Given the description of an element on the screen output the (x, y) to click on. 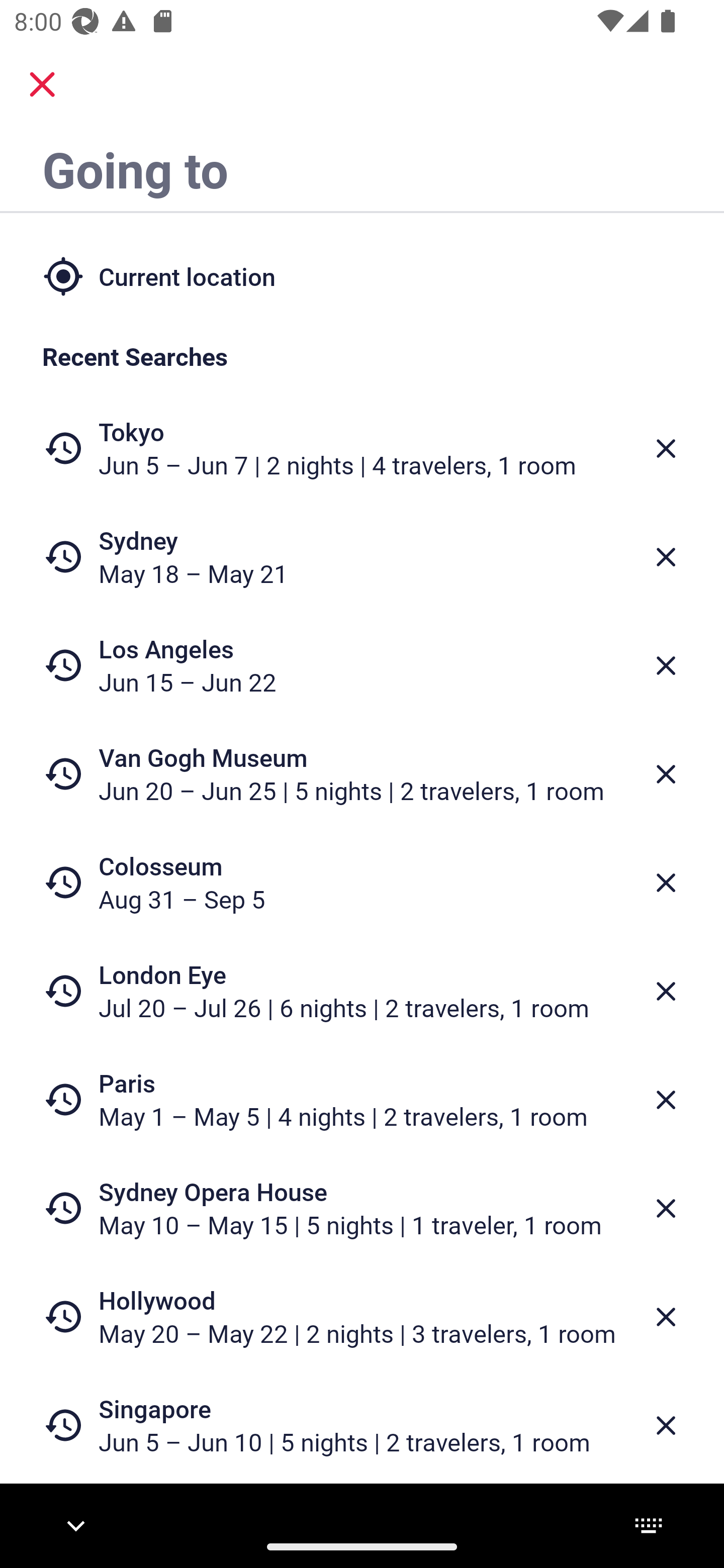
close. (42, 84)
Current location (362, 275)
Delete from recent searches (666, 448)
Sydney May 18 – May 21 (362, 557)
Delete from recent searches (666, 556)
Los Angeles Jun 15 – Jun 22 (362, 665)
Delete from recent searches (666, 666)
Delete from recent searches (666, 774)
Colosseum Aug 31 – Sep 5 (362, 881)
Delete from recent searches (666, 882)
Delete from recent searches (666, 990)
Delete from recent searches (666, 1100)
Delete from recent searches (666, 1208)
Delete from recent searches (666, 1316)
Delete from recent searches (666, 1424)
